Given the description of an element on the screen output the (x, y) to click on. 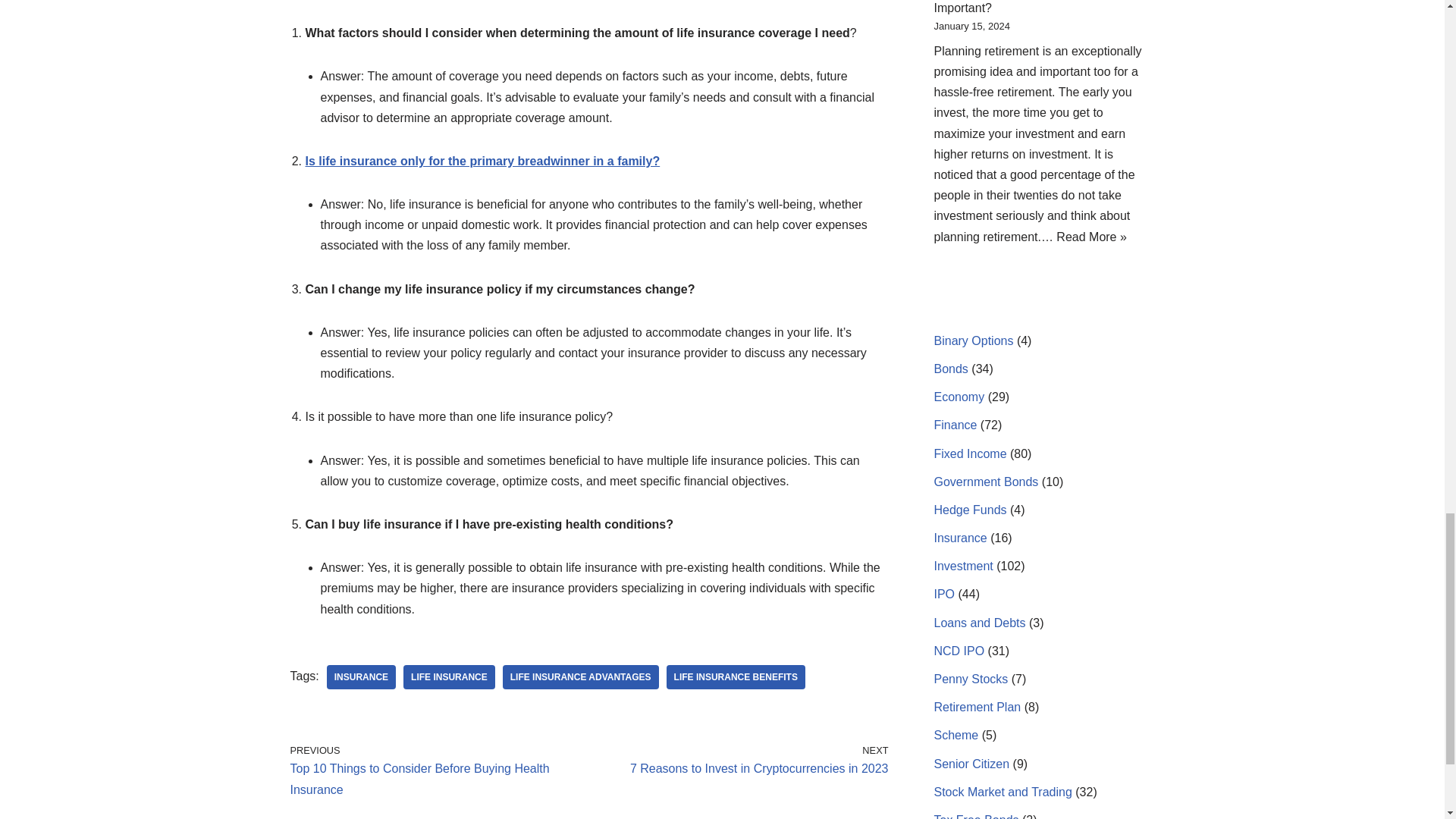
Life Insurance Advantages (580, 677)
LIFE INSURANCE BENEFITS (742, 760)
Insurance (735, 677)
INSURANCE (361, 677)
Life Insurance (361, 677)
LIFE INSURANCE ADVANTAGES (449, 677)
Life Insurance Benefits (580, 677)
LIFE INSURANCE (735, 677)
